Given the description of an element on the screen output the (x, y) to click on. 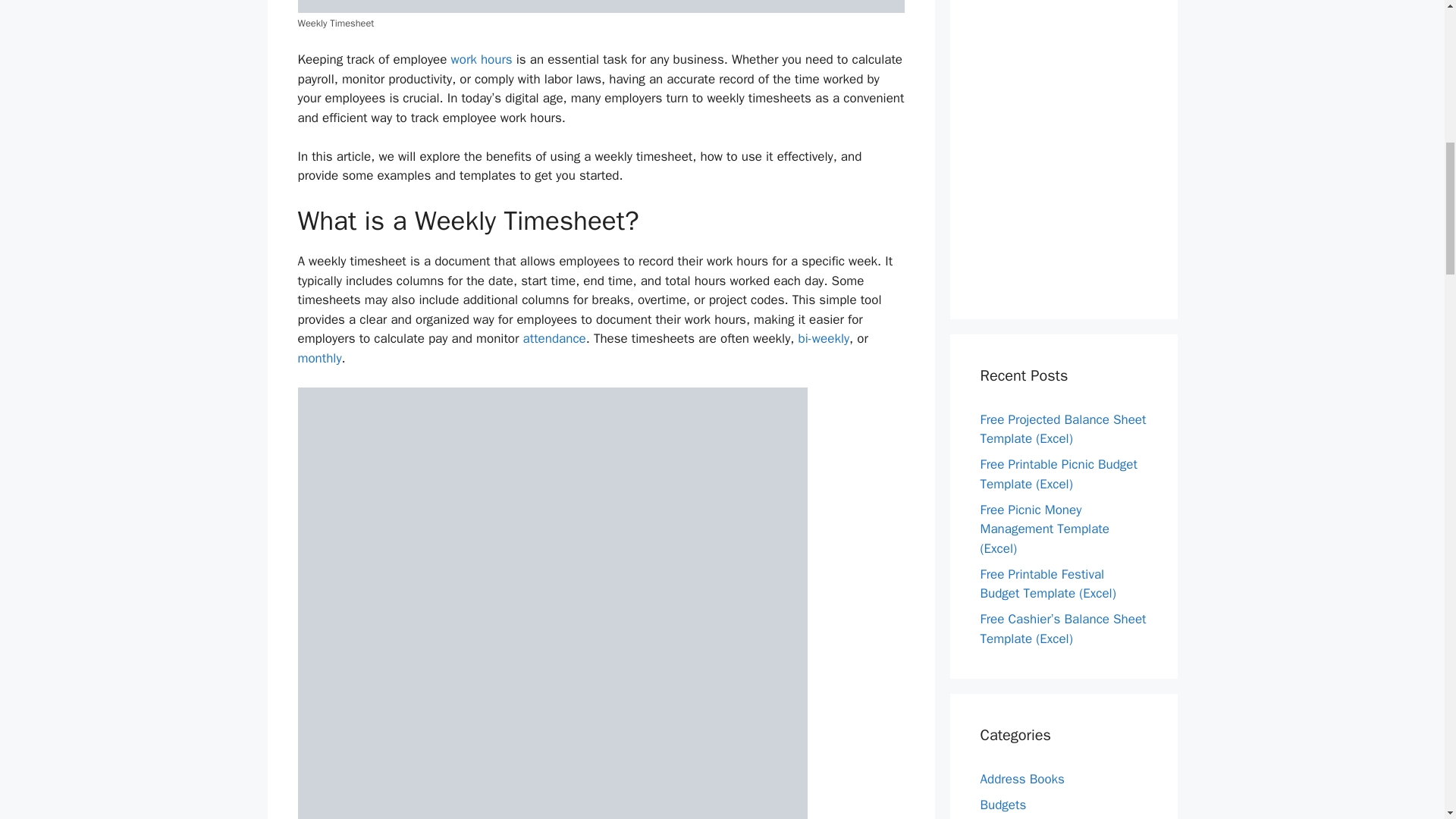
work hours (481, 59)
monthly (318, 358)
Budgets (1002, 804)
bi-weekly (823, 338)
Scroll back to top (1406, 720)
attendance (554, 338)
Address Books (1021, 779)
